Given the description of an element on the screen output the (x, y) to click on. 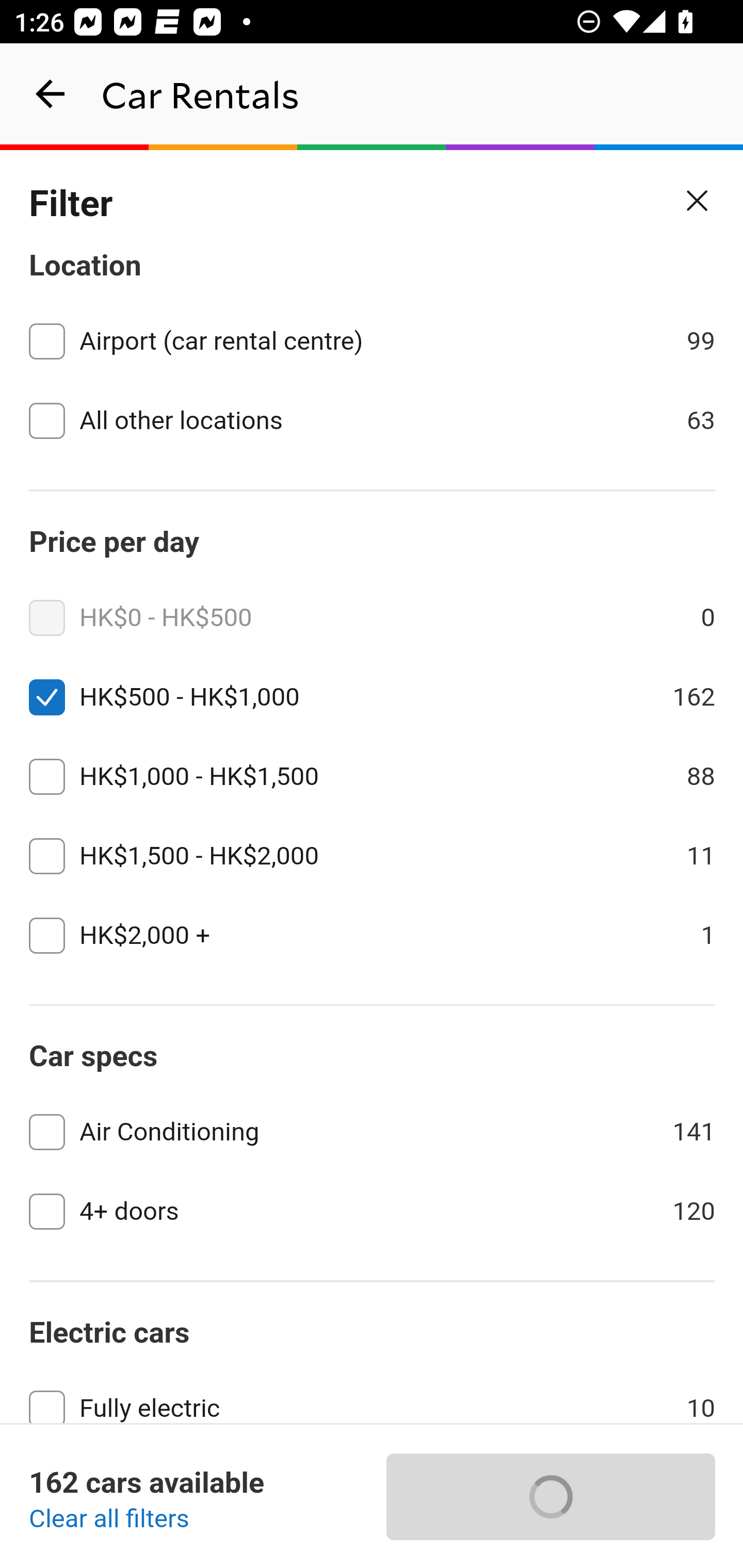
navigation_button (50, 93)
Close (697, 201)
Clear all filters (108, 1519)
